Given the description of an element on the screen output the (x, y) to click on. 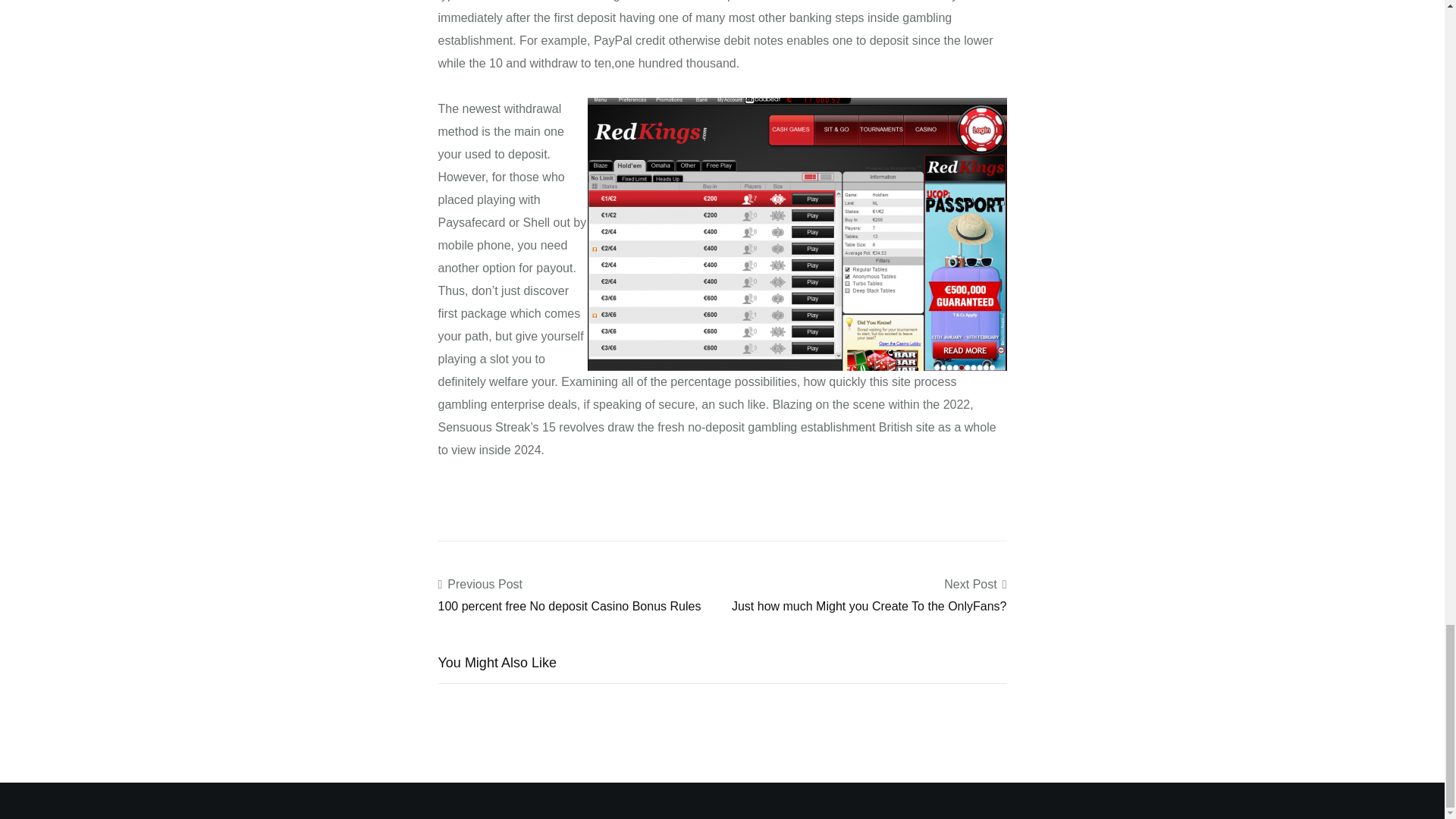
Just how much Might you Create To the OnlyFans? (869, 605)
100 percent free No deposit Casino Bonus Rules (569, 605)
